Given the description of an element on the screen output the (x, y) to click on. 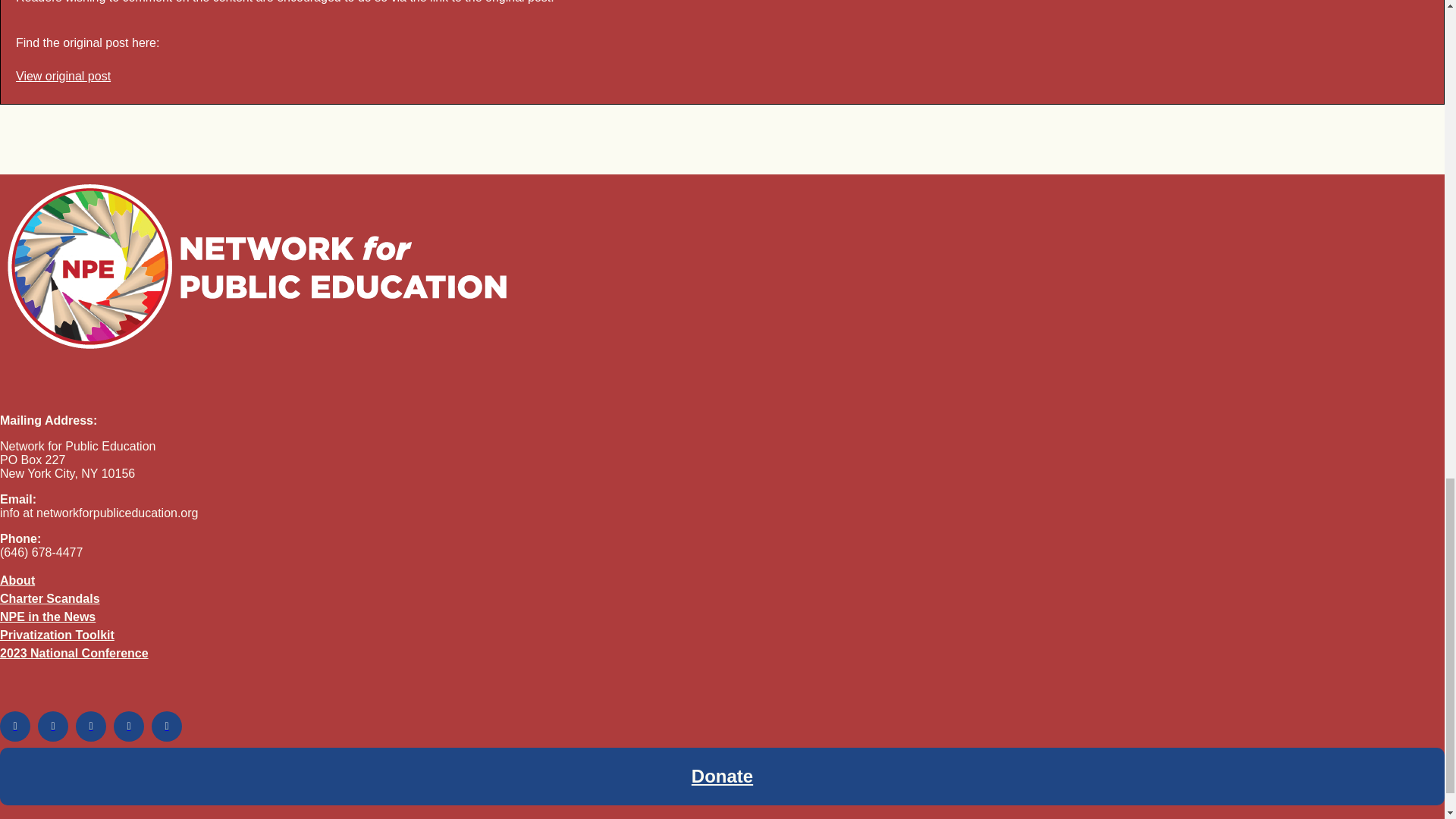
instagram (90, 726)
facebook (15, 726)
tik tok (128, 726)
threads (166, 726)
twitter (52, 726)
